Given the description of an element on the screen output the (x, y) to click on. 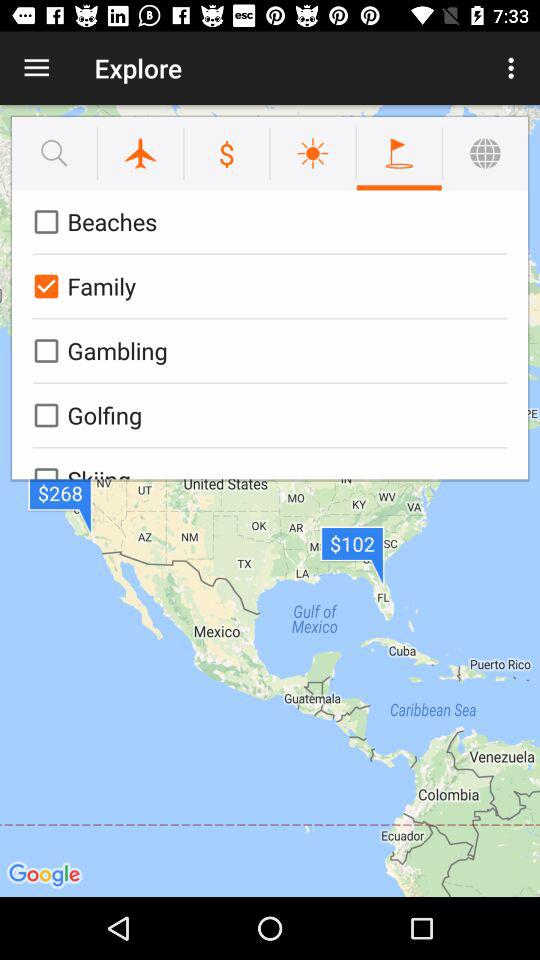
launch skiing item (266, 463)
